Given the description of an element on the screen output the (x, y) to click on. 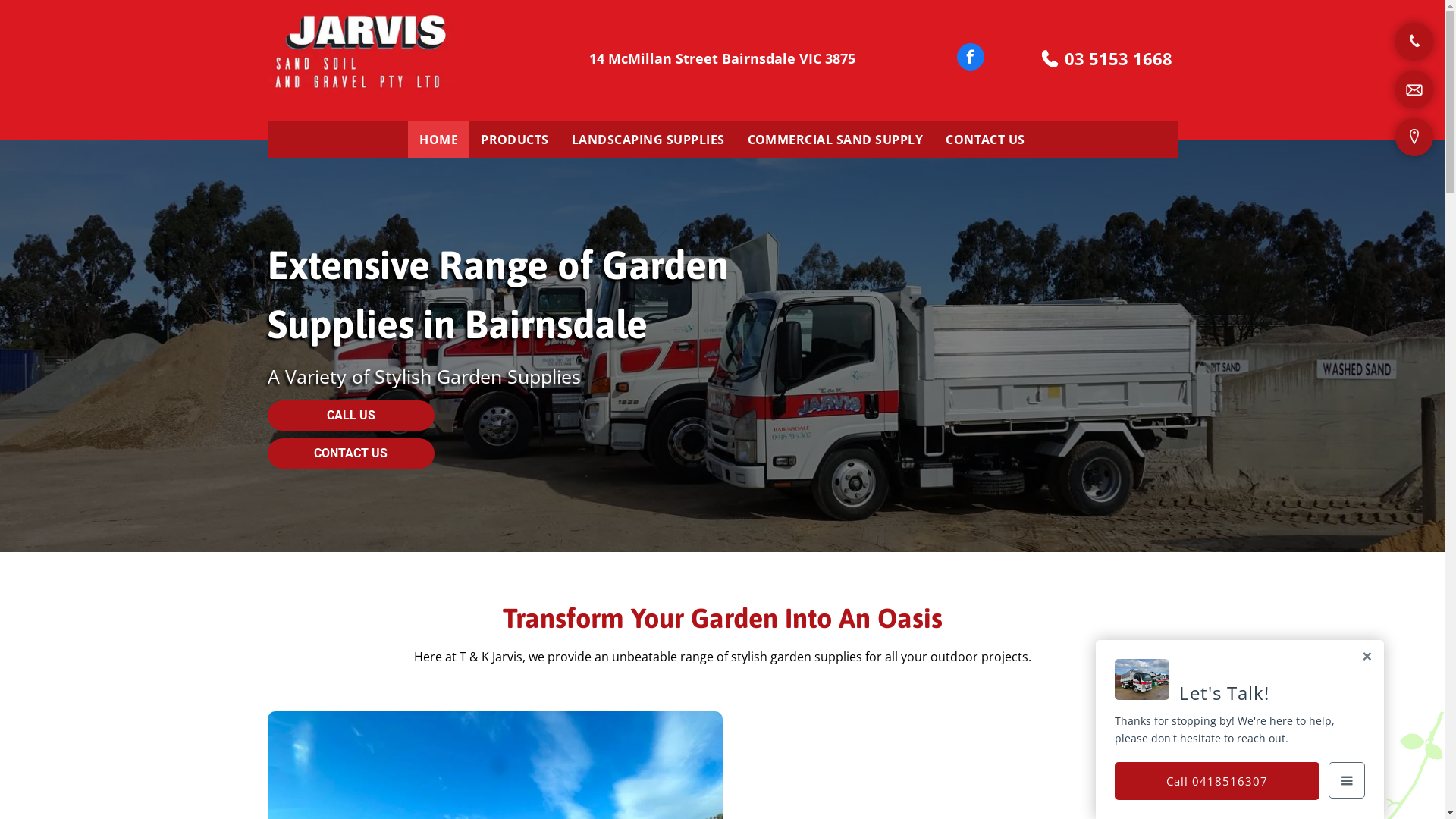
PRODUCTS Element type: text (514, 139)
HOME Element type: text (438, 139)
CONTACT US Element type: text (349, 453)
LANDSCAPING SUPPLIES Element type: text (648, 139)
COMMERCIAL SAND SUPPLY Element type: text (834, 139)
14 McMillan Street Bairnsdale VIC 3875 Element type: text (722, 58)
CALL US Element type: text (349, 415)
Call 0418516307 Element type: text (1216, 781)
T & K Jarvis Sand Soil & Gravel Element type: hover (360, 58)
CONTACT US Element type: text (985, 139)
03 5153 1668 Element type: text (1118, 58)
